Given the description of an element on the screen output the (x, y) to click on. 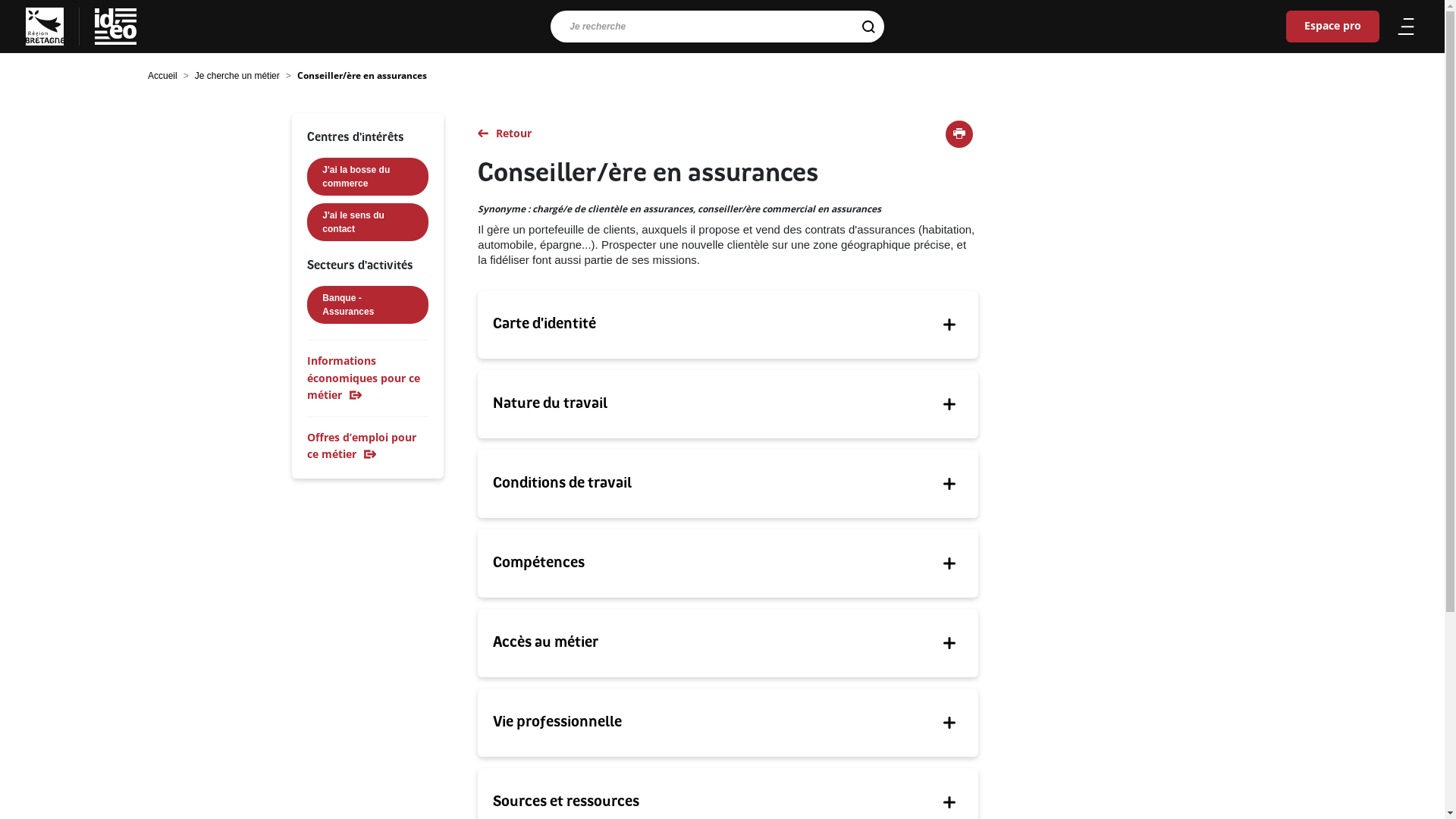
Nature du travail Element type: text (727, 404)
Retour Element type: text (727, 132)
Conditions de travail Element type: text (727, 483)
Menu Element type: hover (1405, 26)
J'ai la bosse du commerce Element type: text (367, 176)
Accueil Element type: text (162, 75)
Imprimer la fiche Element type: hover (958, 133)
Vie professionnelle Element type: text (727, 722)
J'ai le sens du contact Element type: text (367, 222)
Banque - Assurances Element type: text (367, 304)
Espace pro Element type: text (1332, 26)
